Given the description of an element on the screen output the (x, y) to click on. 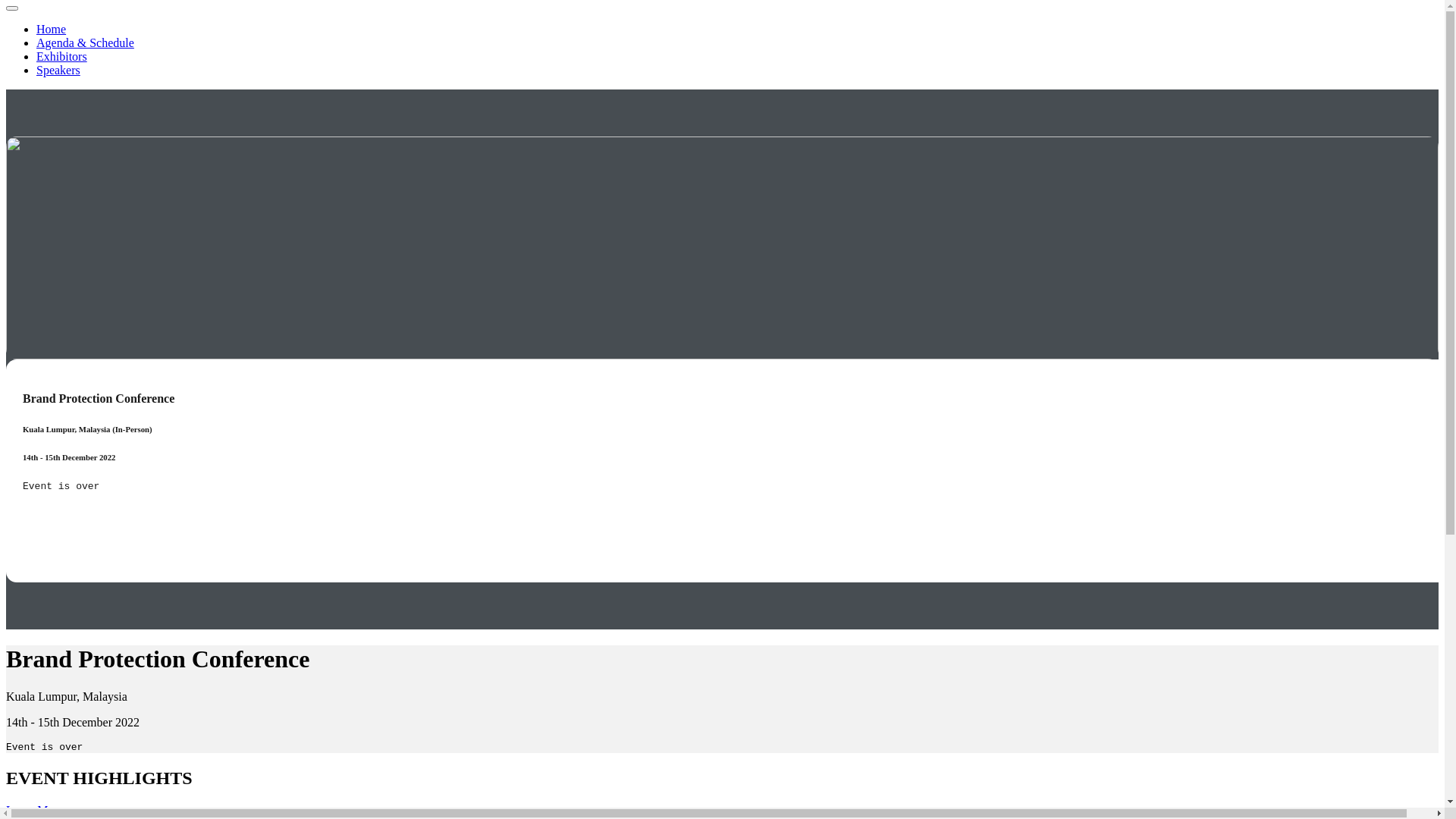
Speakers Element type: text (58, 69)
Agenda & Schedule Element type: text (85, 42)
Exhibitors Element type: text (61, 56)
Learn More Element type: text (34, 809)
Home Element type: text (50, 28)
